Given the description of an element on the screen output the (x, y) to click on. 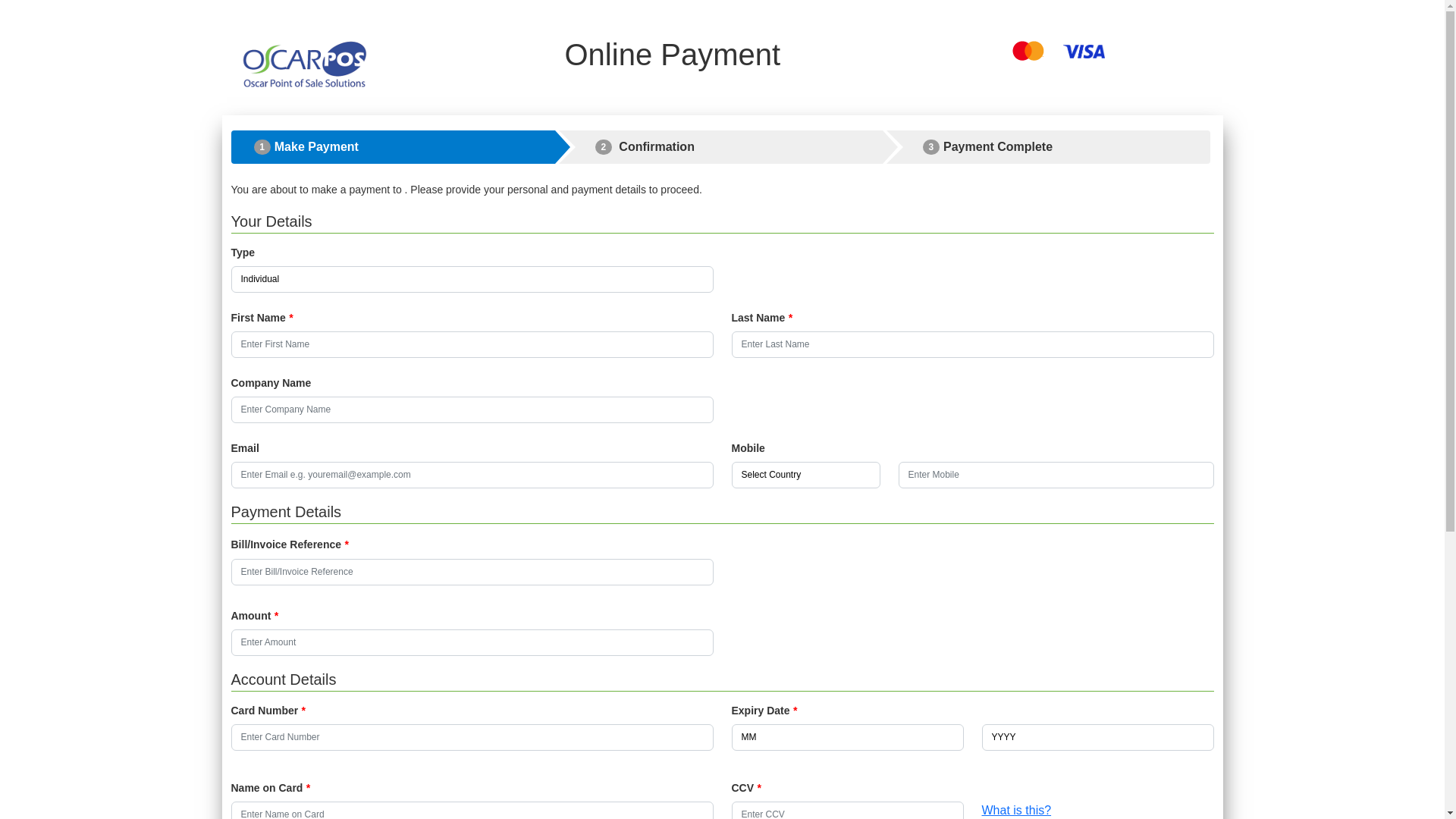
2 Confirmation Element type: text (720, 146)
Visa Logo Element type: hover (1083, 51)
What is this? Element type: text (1016, 809)
1Make Payment Element type: text (392, 146)
3Payment Complete Element type: text (1048, 146)
Mastercard Logo Element type: hover (1027, 50)
